Given the description of an element on the screen output the (x, y) to click on. 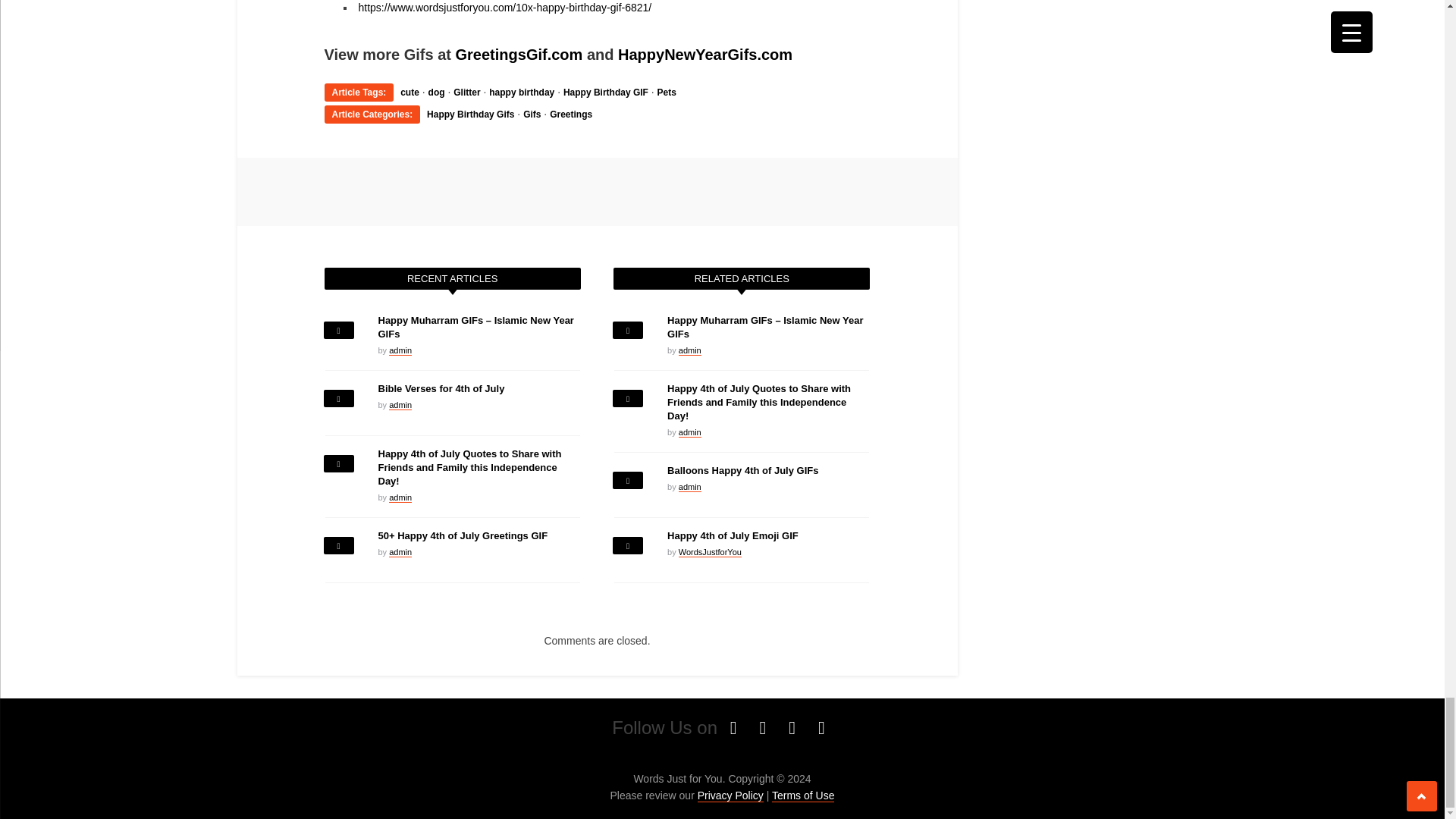
Posts by admin (400, 497)
Posts by admin (689, 432)
Posts by admin (689, 350)
Posts by admin (400, 405)
Posts by admin (400, 552)
Posts by admin (400, 350)
Posts by admin (689, 487)
